Given the description of an element on the screen output the (x, y) to click on. 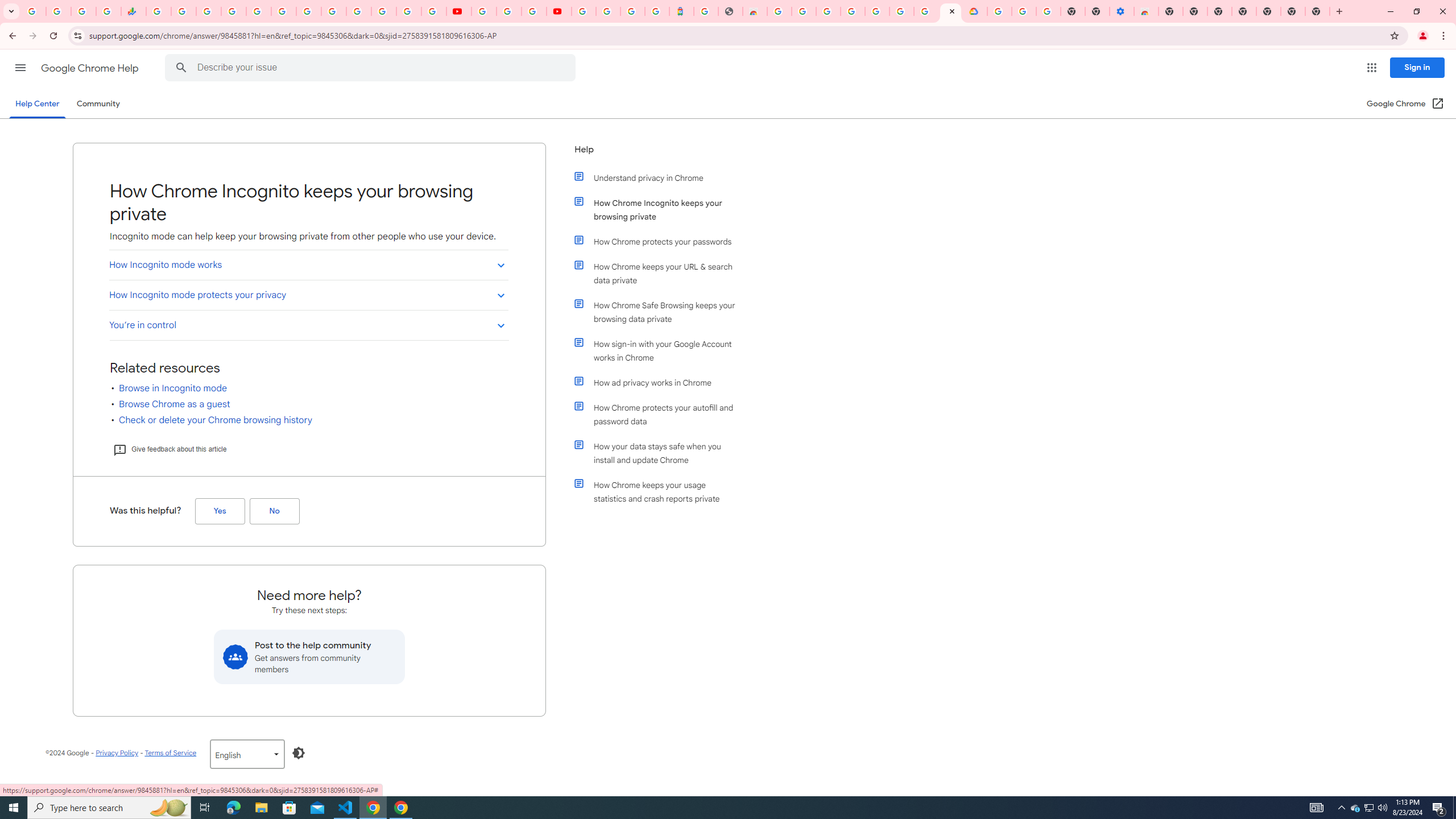
Describe your issue (371, 67)
Android TV Policies and Guidelines - Transparency Center (308, 11)
Google Chrome Help (90, 68)
Yes (Was this helpful?) (219, 510)
